Given the description of an element on the screen output the (x, y) to click on. 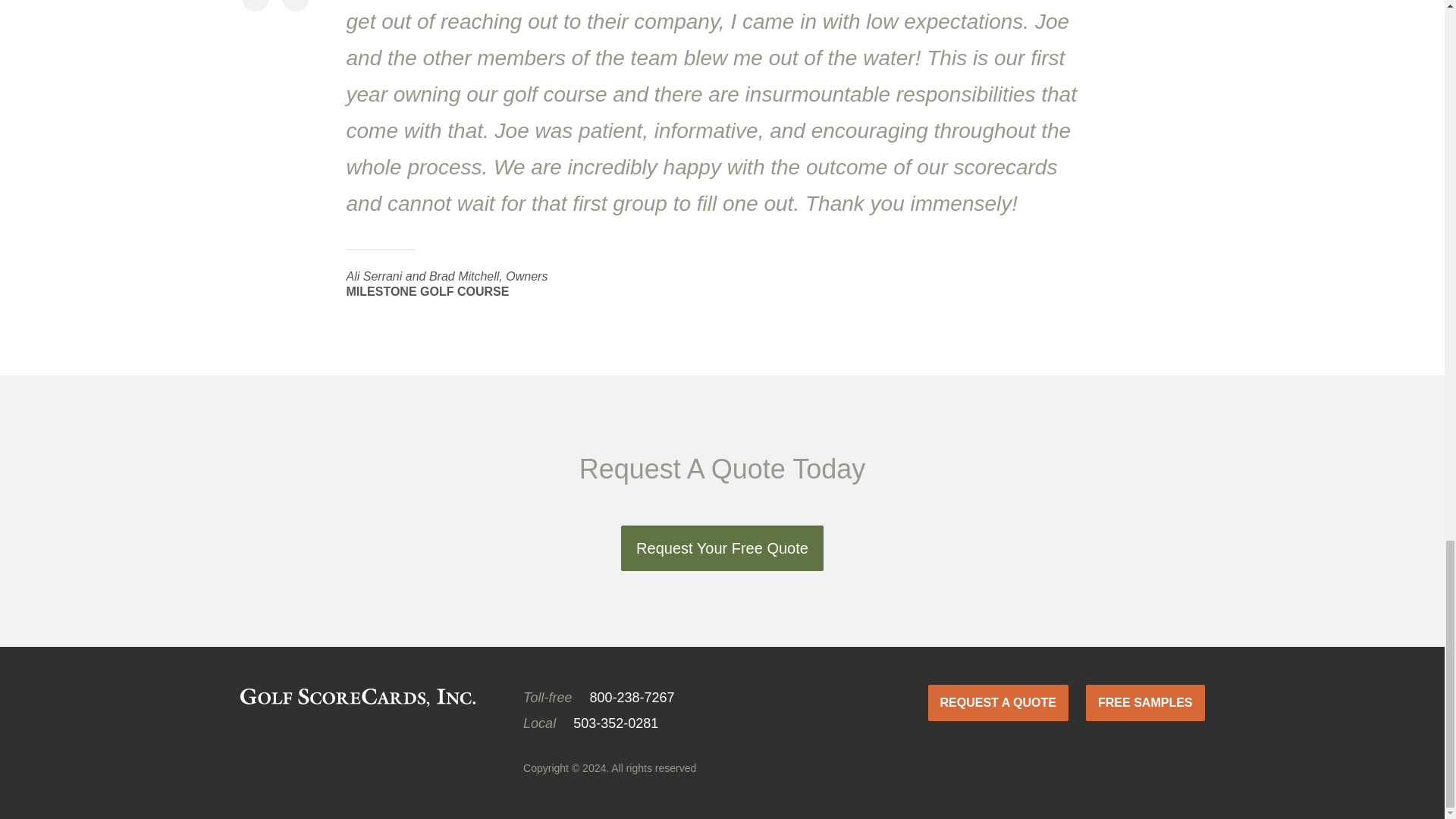
FREE SAMPLES (1145, 702)
Golf ScoreCards, Inc (357, 697)
REQUEST A QUOTE (998, 702)
Golf ScoreCards, Inc. (357, 697)
Request Your Free Quote (722, 547)
